Given the description of an element on the screen output the (x, y) to click on. 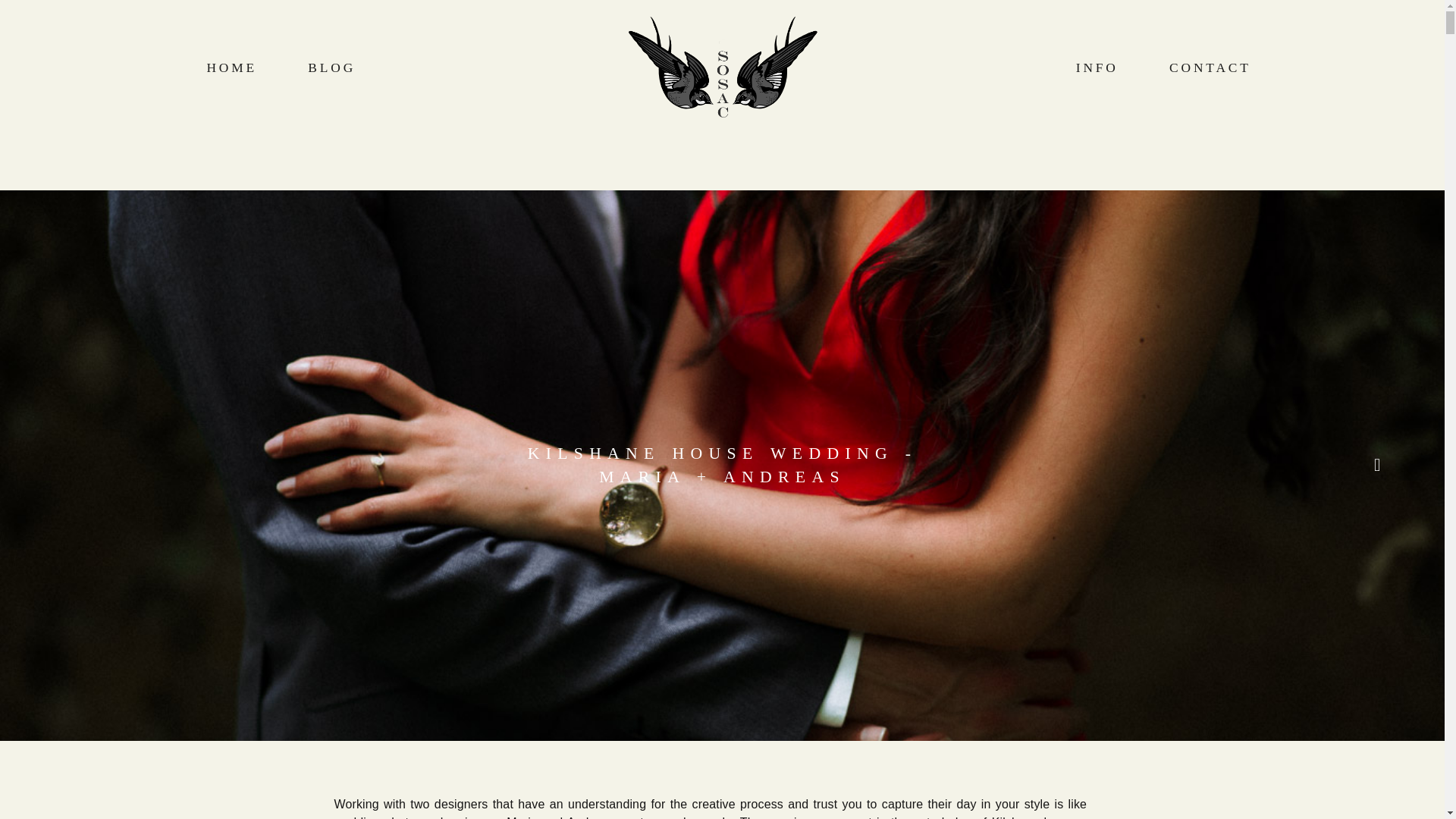
BLOG (331, 67)
CONTACT (1209, 67)
HOME (231, 67)
INFO (1096, 67)
